Given the description of an element on the screen output the (x, y) to click on. 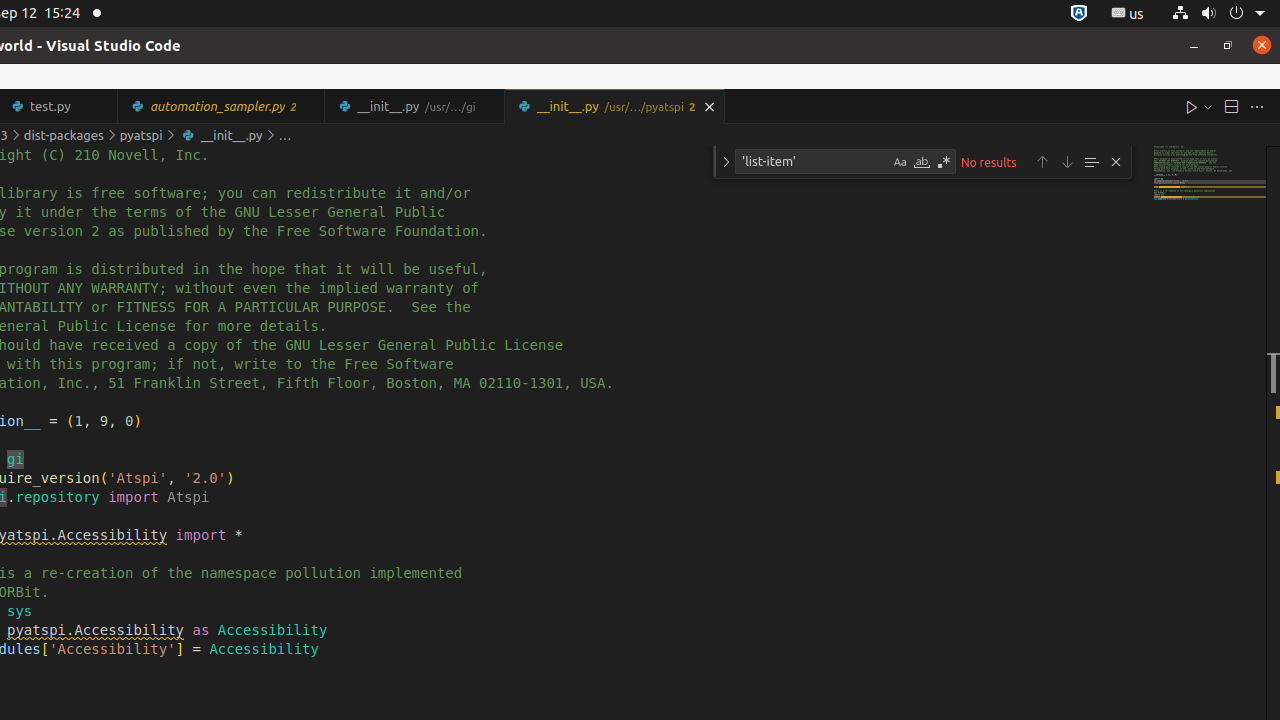
Match Whole Word (Alt+W) Element type: check-box (922, 162)
More Actions... Element type: push-button (1257, 106)
Run or Debug... Element type: push-button (1208, 106)
Close (Ctrl+W) Element type: push-button (709, 106)
